Given the description of an element on the screen output the (x, y) to click on. 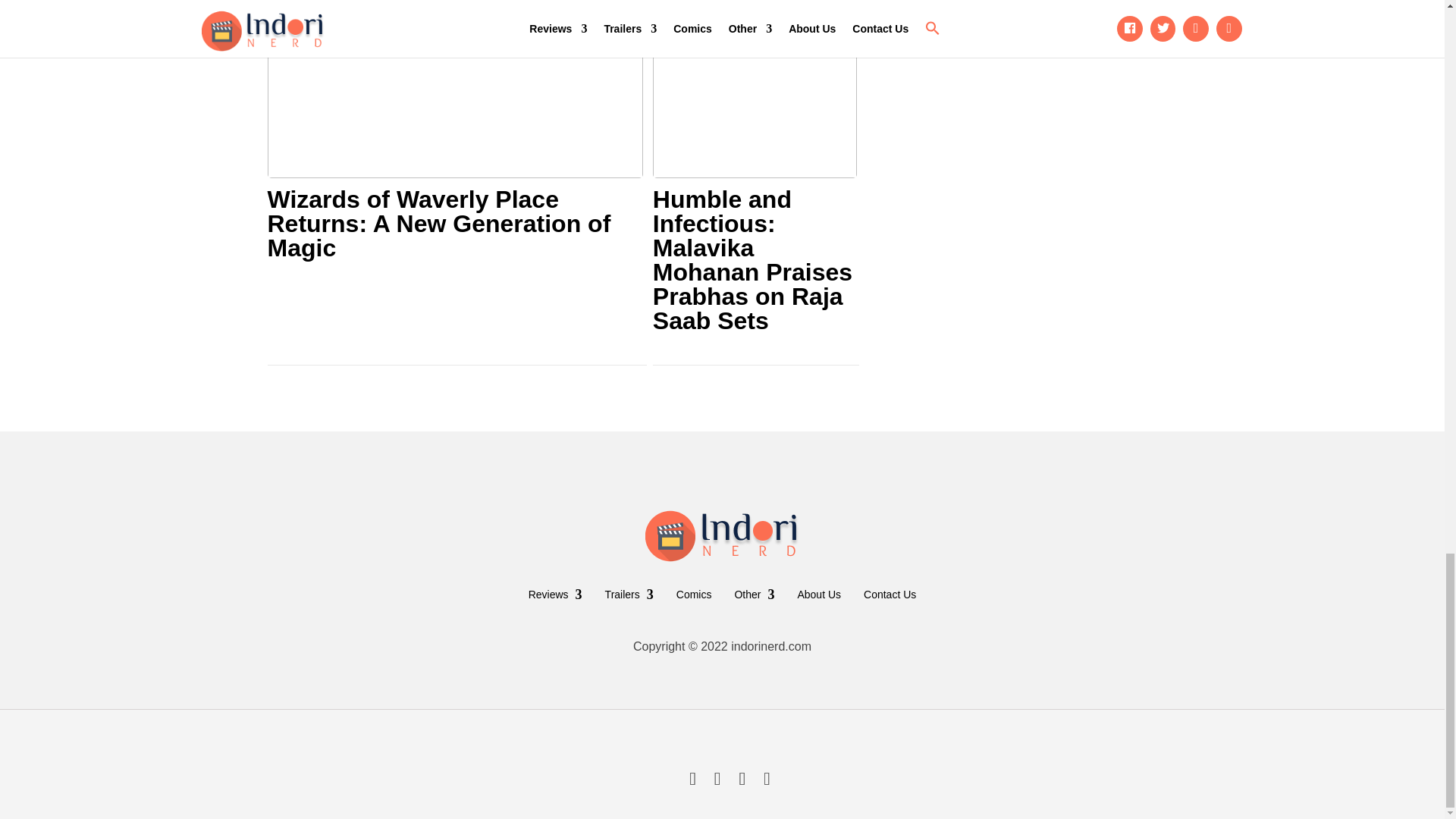
Wizards of Waverly Place Returns: A New Generation of Magic (454, 223)
Wizards of Waverly Place Returns: A New Generation of Magic (454, 223)
